Given the description of an element on the screen output the (x, y) to click on. 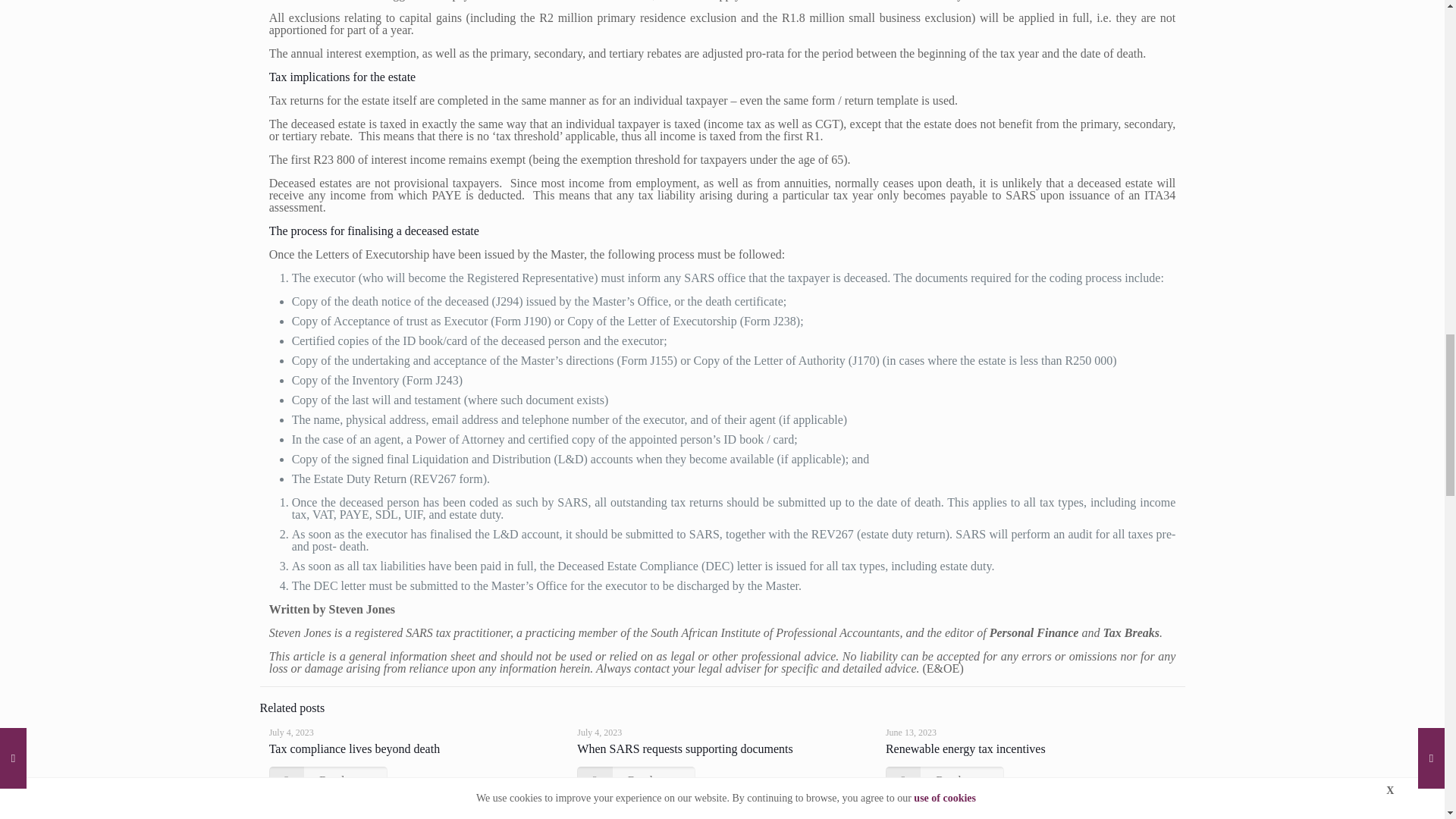
When SARS requests supporting documents (684, 748)
Read more (328, 780)
Renewable energy tax incentives (965, 748)
Tax compliance lives beyond death (354, 748)
Read more (944, 780)
Read more (635, 780)
